Given the description of an element on the screen output the (x, y) to click on. 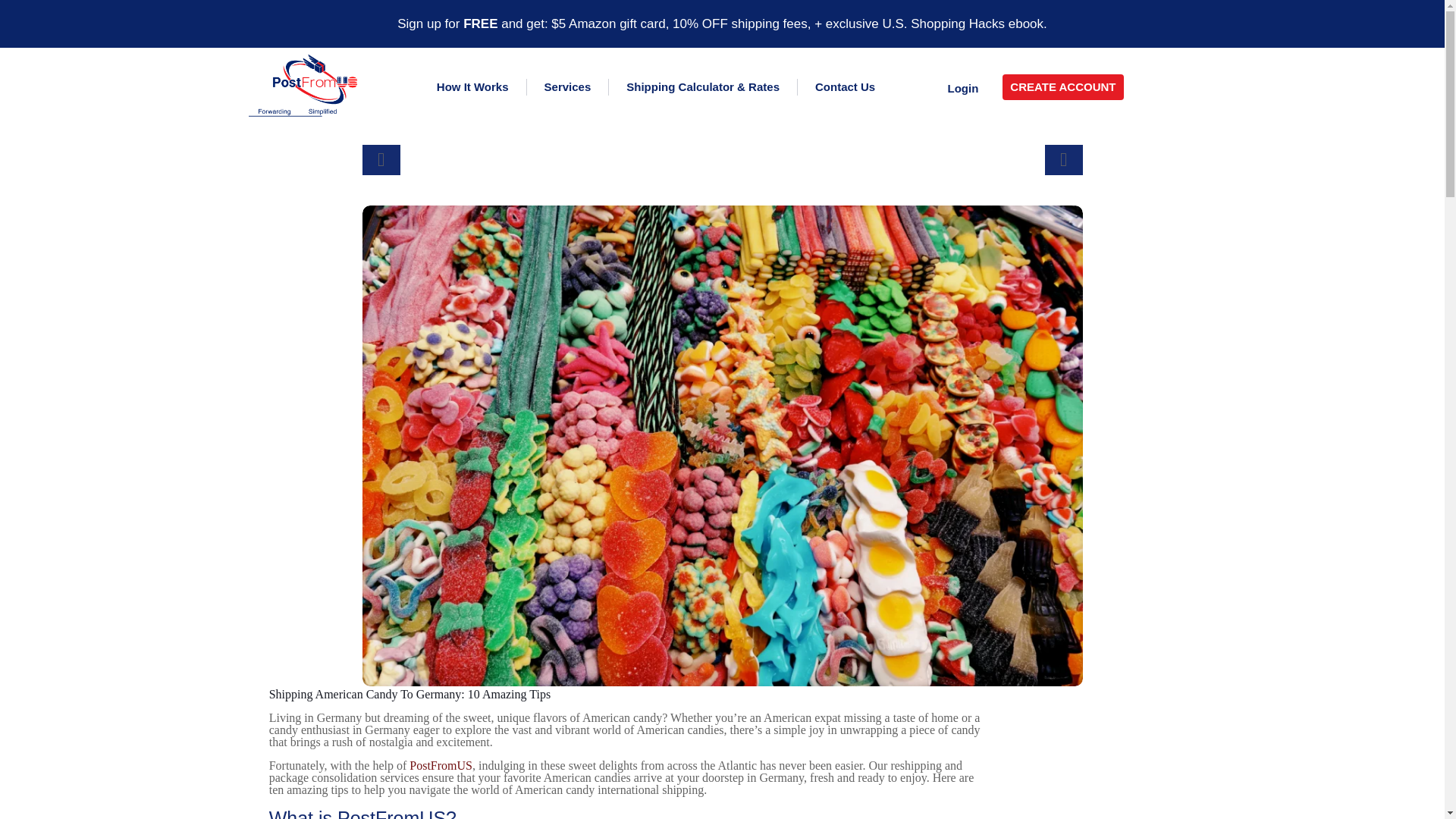
Contact Us (844, 86)
CREATE ACCOUNT (1062, 86)
Services (567, 86)
PostFromUS (440, 765)
Login (959, 88)
How It Works (473, 86)
